Given the description of an element on the screen output the (x, y) to click on. 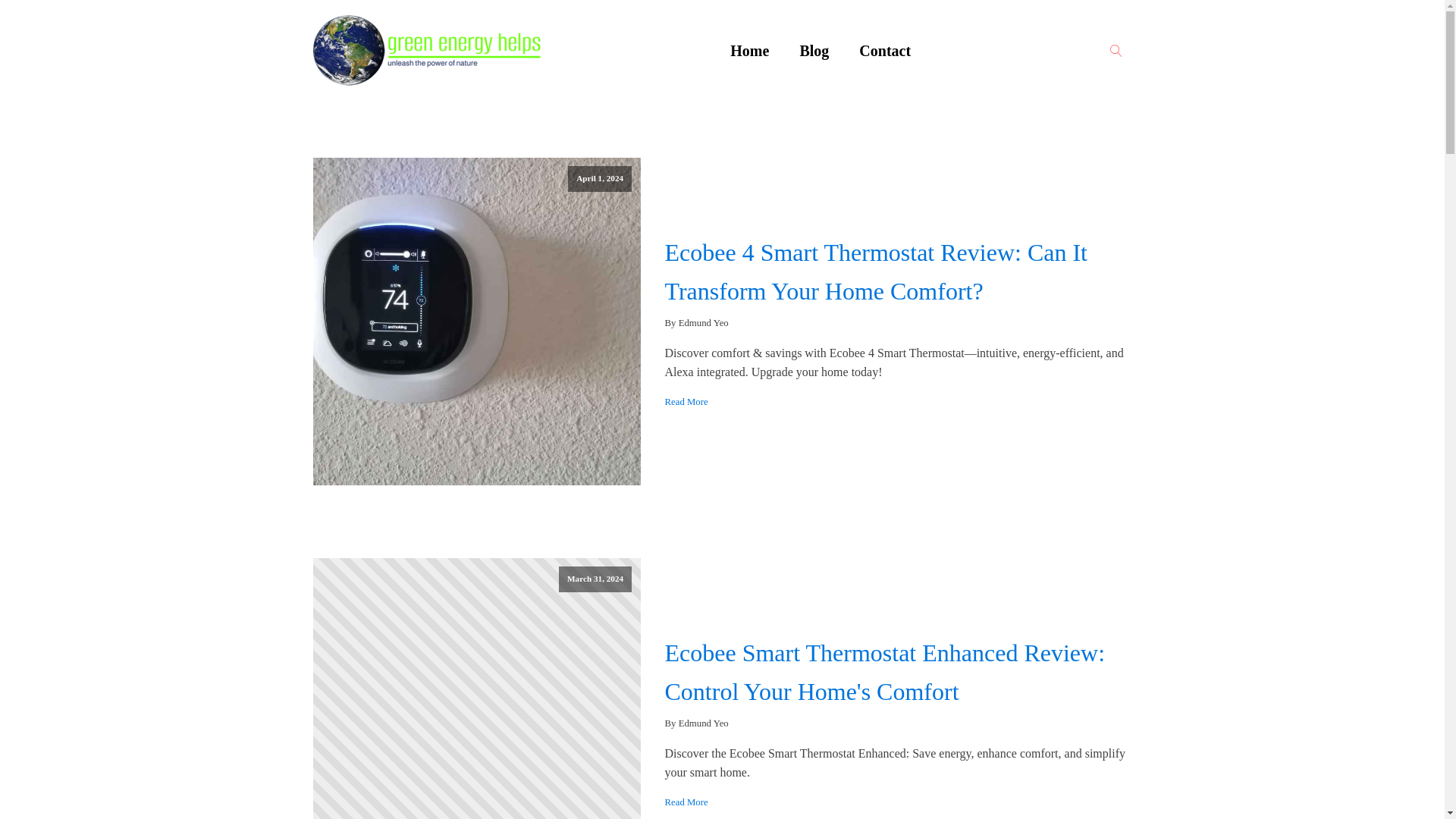
Read More (685, 801)
Read More (685, 401)
April 1, 2024 (476, 321)
Contact (885, 50)
Home (749, 50)
March 31, 2024 (476, 688)
Blog (814, 50)
